Given the description of an element on the screen output the (x, y) to click on. 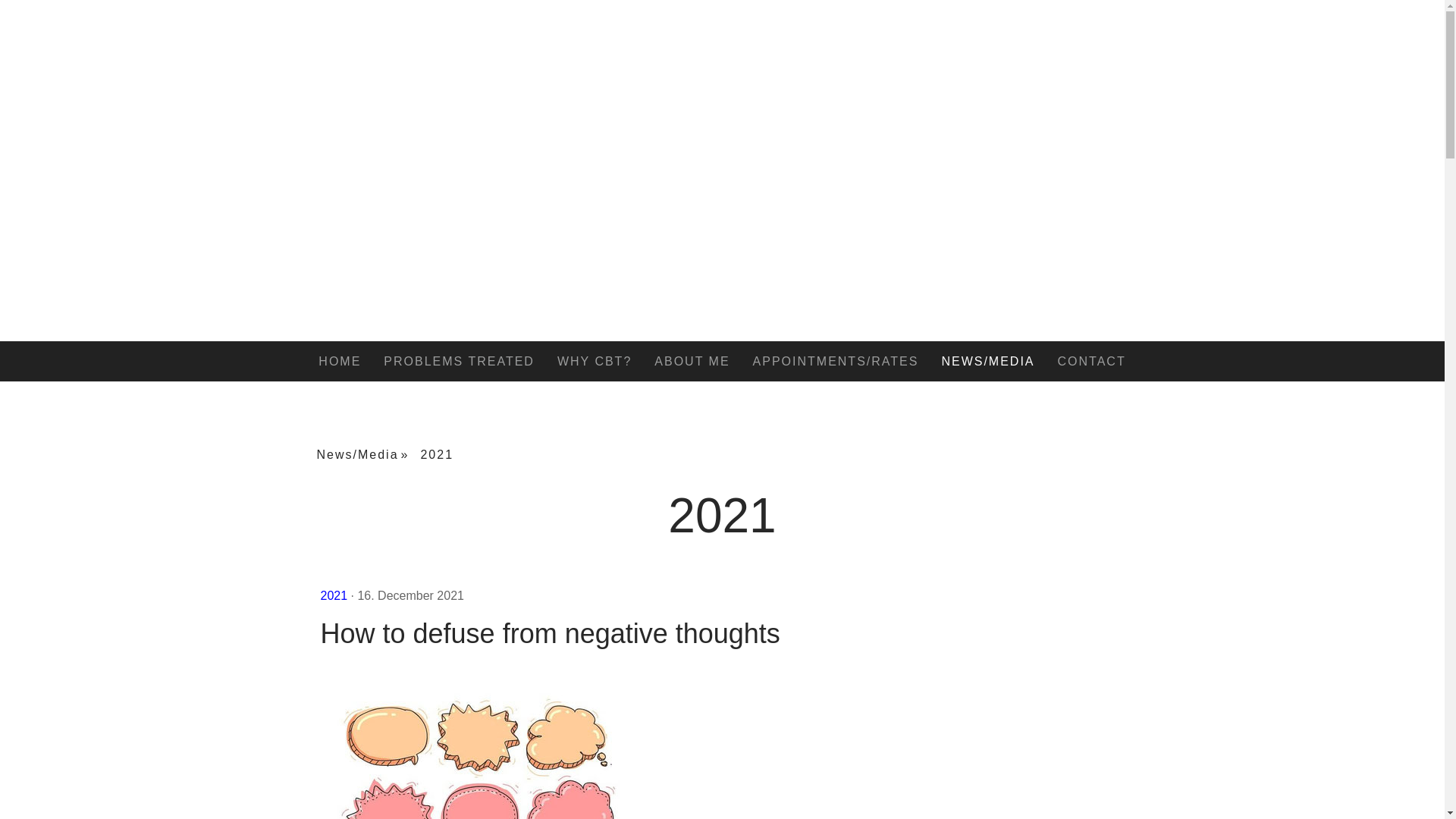
HOME (339, 361)
How to defuse from negative thoughts (722, 633)
WHY CBT? (594, 361)
PROBLEMS TREATED (459, 361)
CONTACT (1091, 361)
ABOUT ME (692, 361)
